Given the description of an element on the screen output the (x, y) to click on. 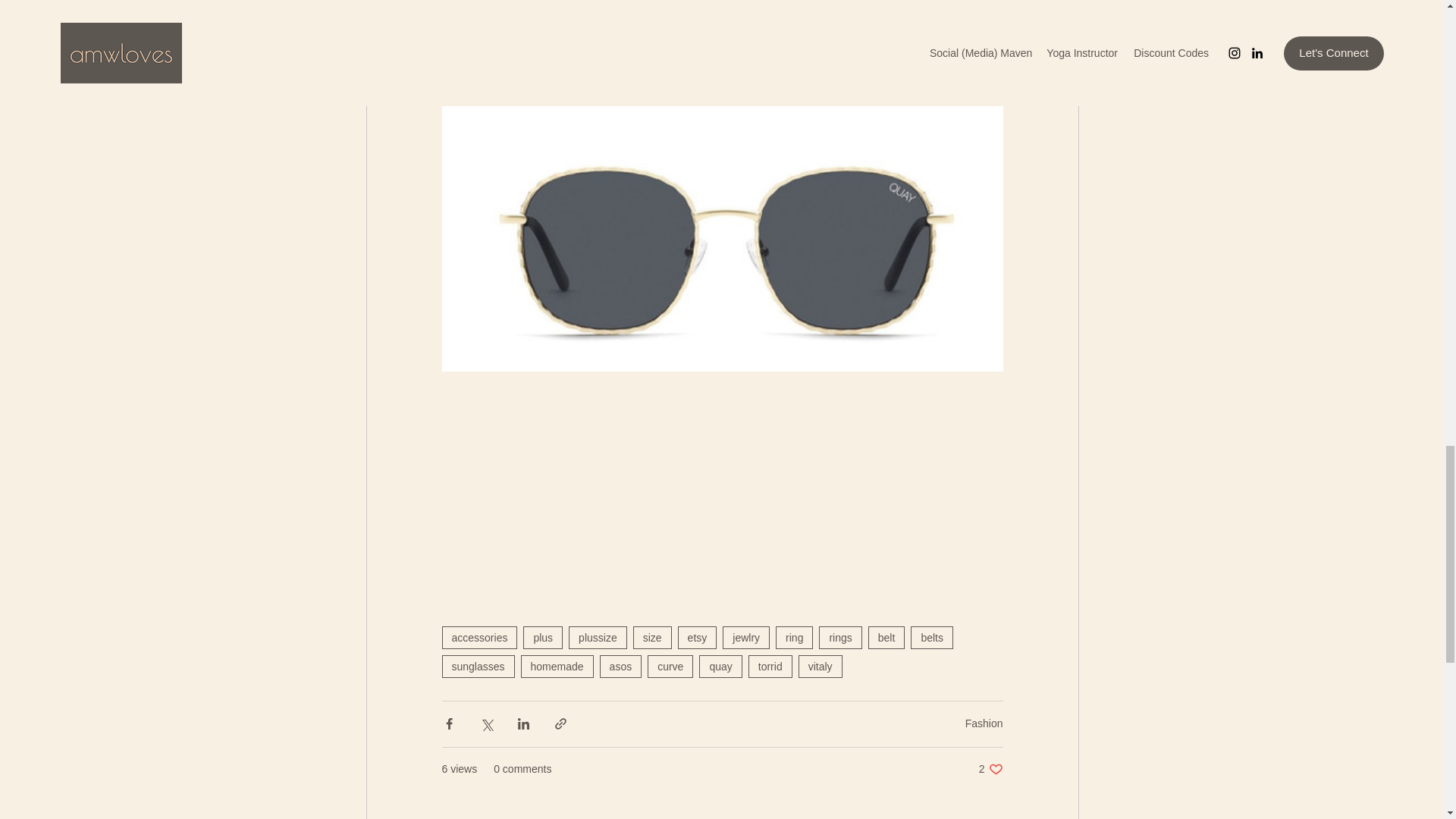
accessories (478, 637)
vitaly (820, 666)
ring (794, 637)
plus (542, 637)
etsy (697, 637)
curve (670, 666)
jewlry (746, 637)
belt (886, 637)
size (652, 637)
sunglasses (477, 666)
